Given the description of an element on the screen output the (x, y) to click on. 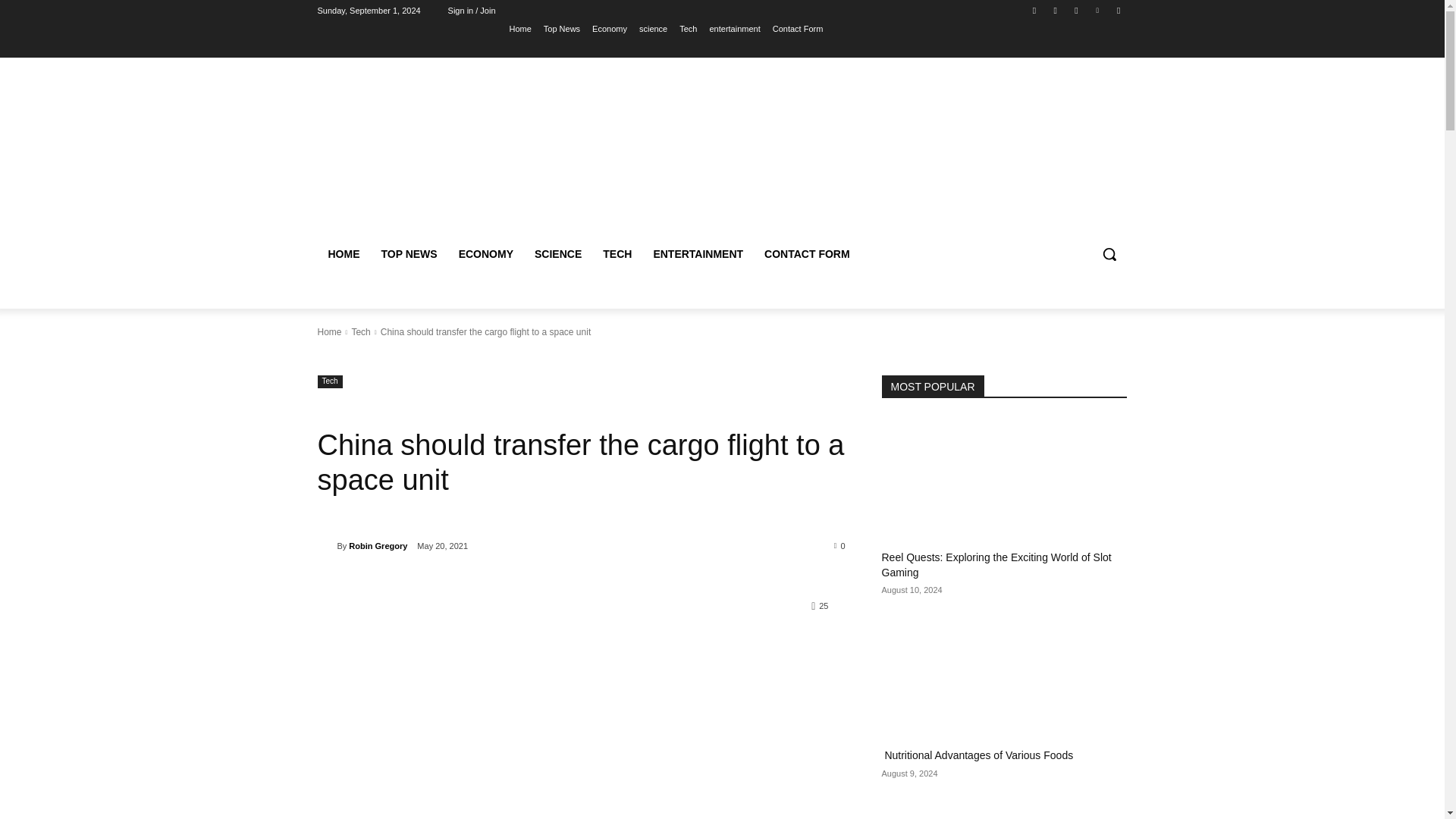
ENTERTAINMENT (698, 253)
Vimeo (1097, 9)
Tech (359, 331)
science (652, 28)
Youtube (1117, 9)
entertainment (734, 28)
CONTACT FORM (807, 253)
Home (519, 28)
Twitter (1075, 9)
Facebook (1034, 9)
